Given the description of an element on the screen output the (x, y) to click on. 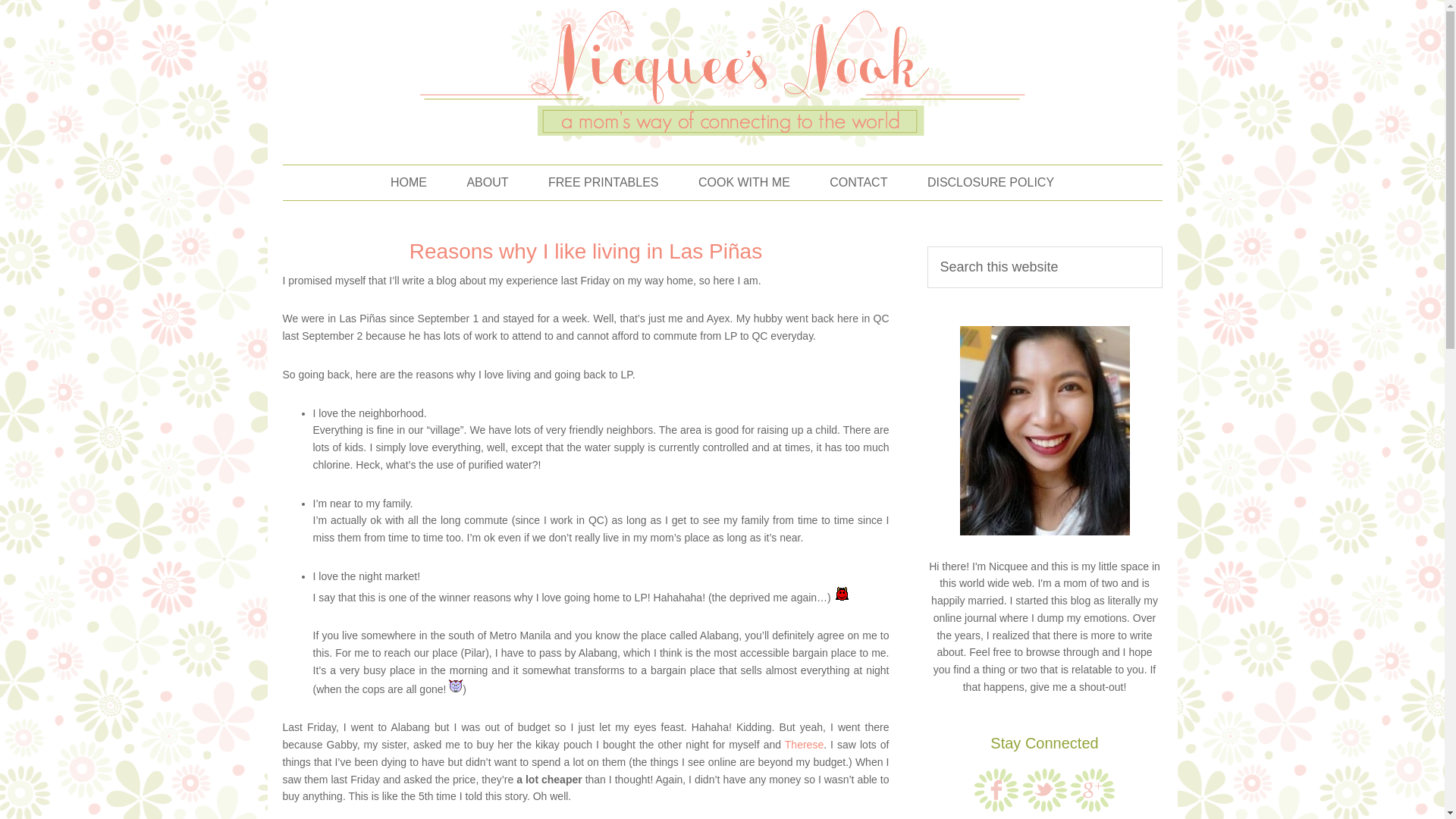
Therese (804, 744)
COOK WITH ME (743, 182)
DISCLOSURE POLICY (989, 182)
HOME (408, 182)
CONTACT (857, 182)
ABOUT (486, 182)
FREE PRINTABLES (603, 182)
